Given the description of an element on the screen output the (x, y) to click on. 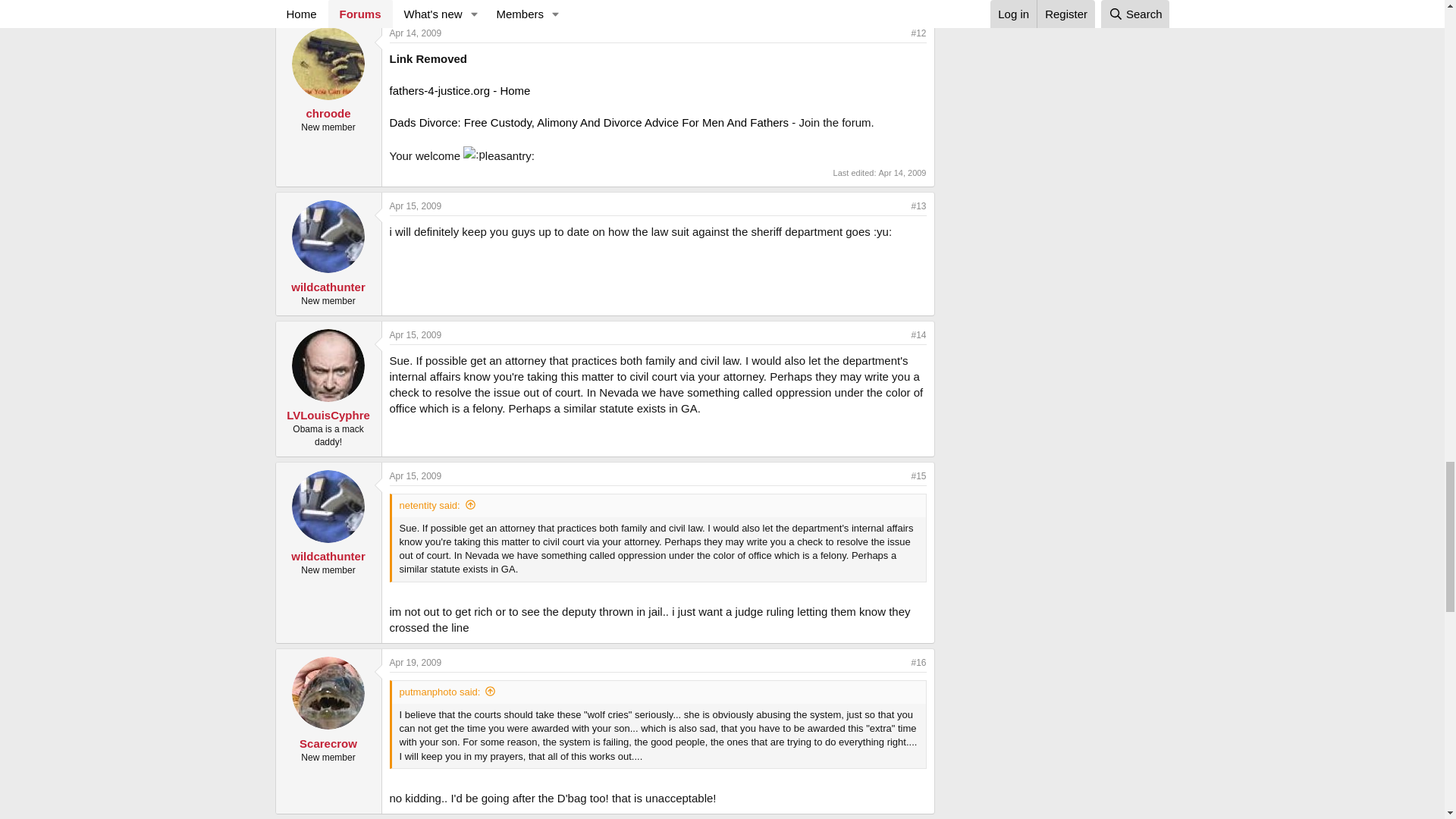
Apr 15, 2009 at 6:42 AM (416, 205)
Stick out tongue    :p (473, 154)
Apr 14, 2009 at 12:52 PM (901, 172)
Apr 14, 2009 at 12:51 PM (416, 32)
